Given the description of an element on the screen output the (x, y) to click on. 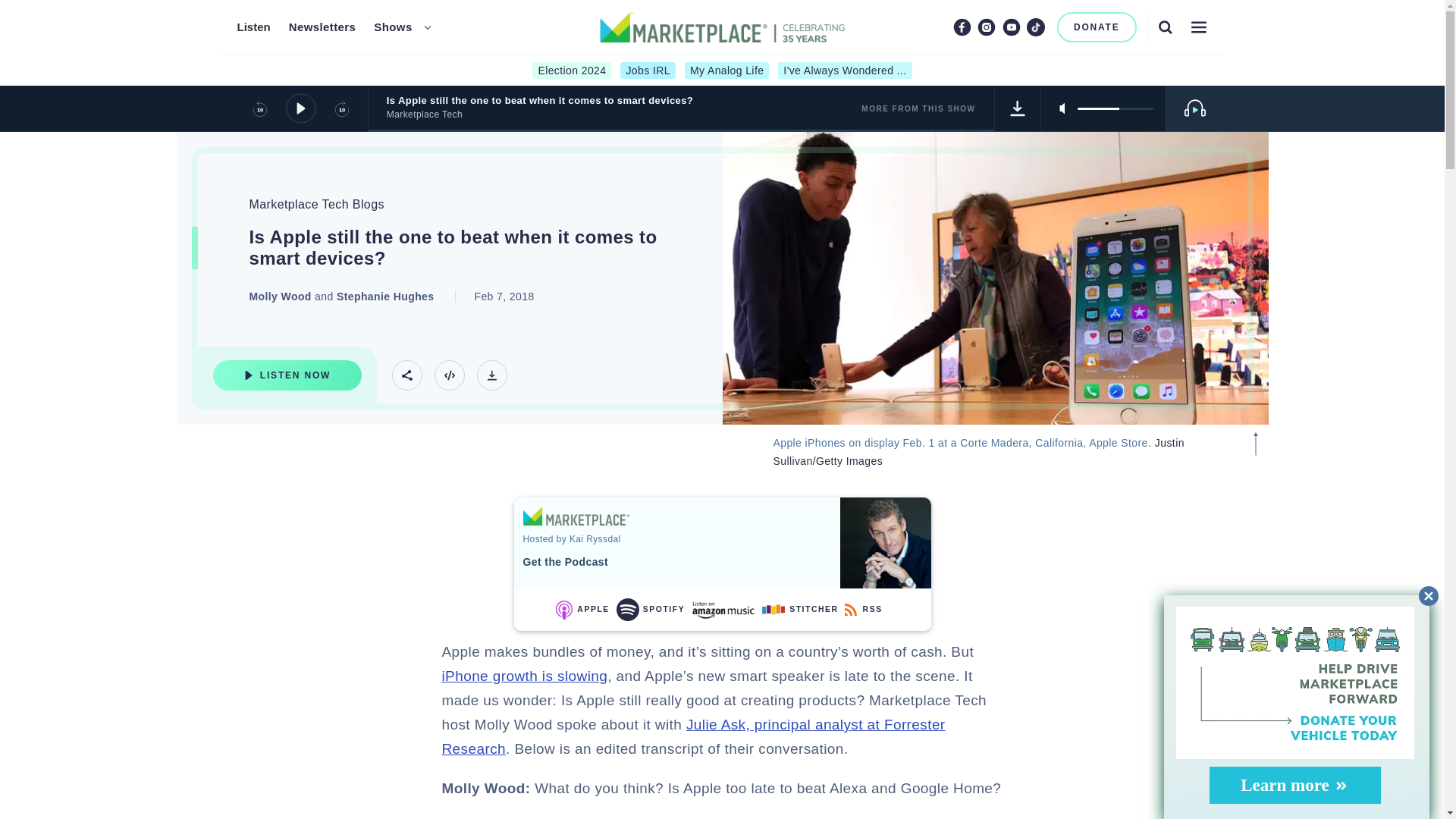
Newsletters (322, 27)
TikTok (1035, 27)
volume (1115, 108)
Listen Now (286, 374)
Facebook (962, 27)
Menu (1198, 27)
Instagram (985, 27)
Download Track (491, 374)
DONATE (1097, 27)
Youtube (1011, 27)
Search (1164, 27)
Download Track (1017, 108)
Shows (393, 26)
5 (1115, 108)
Marketplace (575, 515)
